Given the description of an element on the screen output the (x, y) to click on. 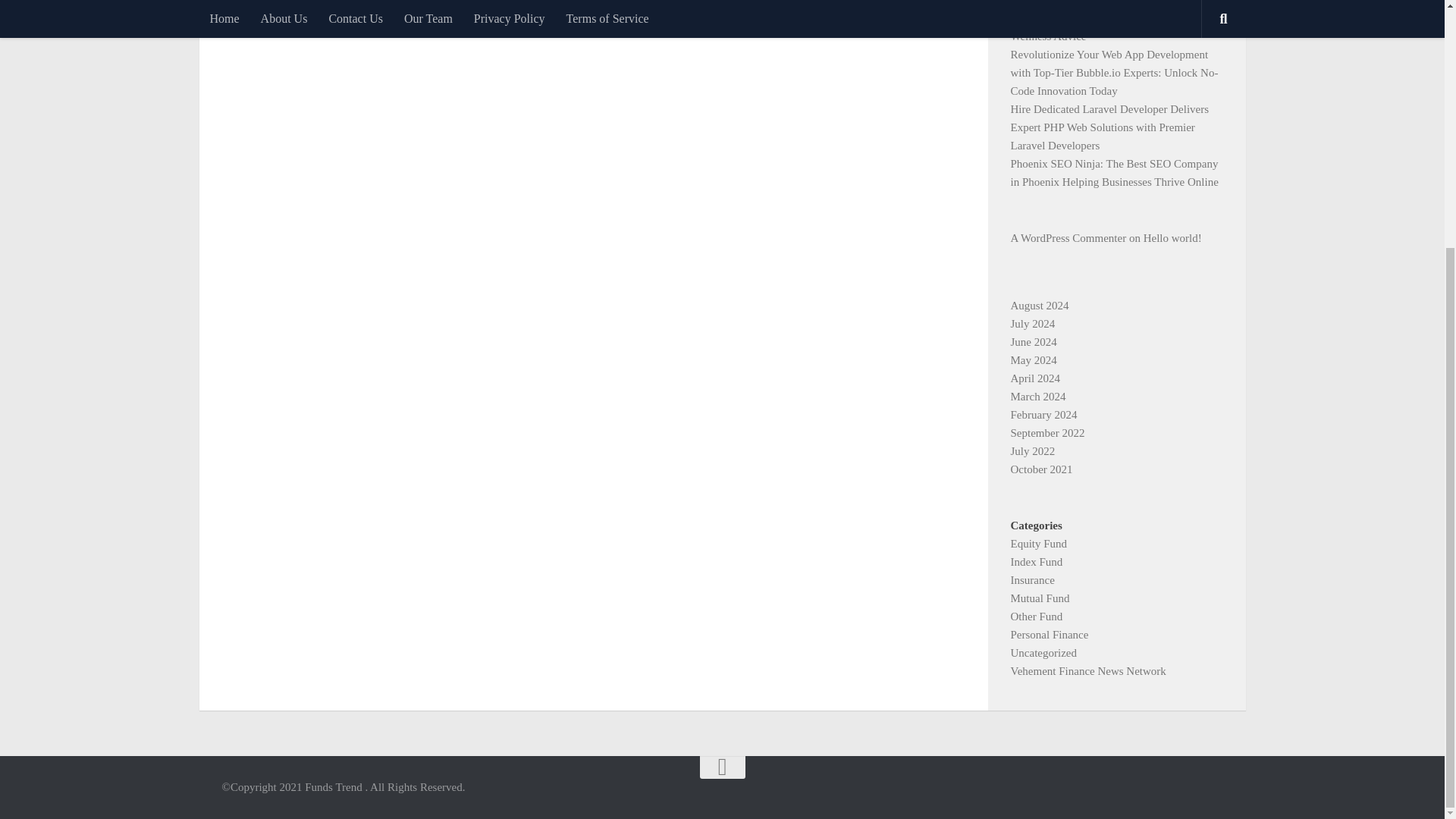
April 2024 (1034, 378)
A WordPress Commenter (1067, 237)
July 2024 (1032, 323)
Hello world! (1172, 237)
August 2024 (1039, 305)
June 2024 (1033, 341)
